Given the description of an element on the screen output the (x, y) to click on. 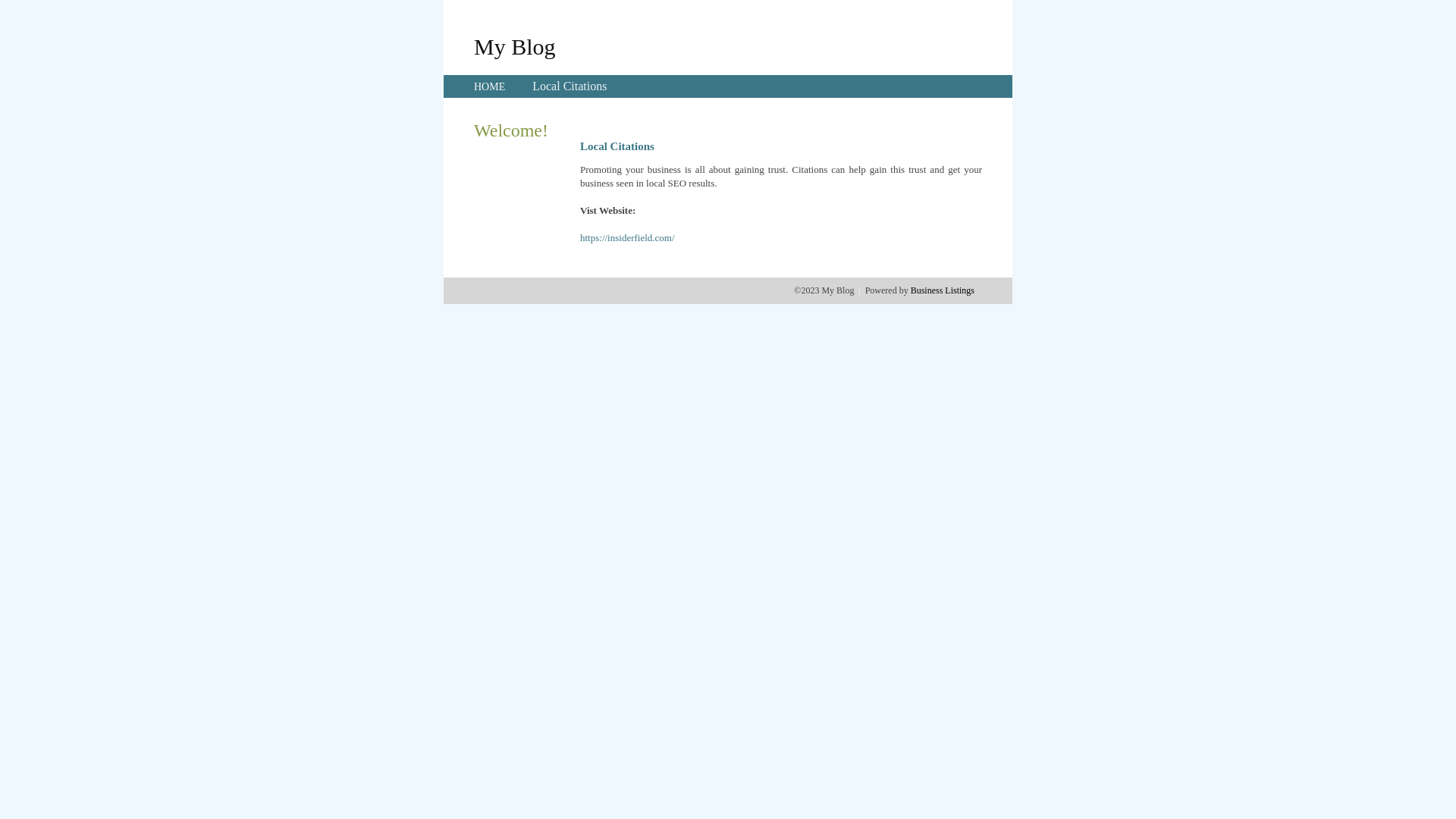
Local Citations Element type: text (569, 85)
https://insiderfield.com/ Element type: text (627, 237)
HOME Element type: text (489, 86)
Business Listings Element type: text (942, 290)
My Blog Element type: text (514, 46)
